Given the description of an element on the screen output the (x, y) to click on. 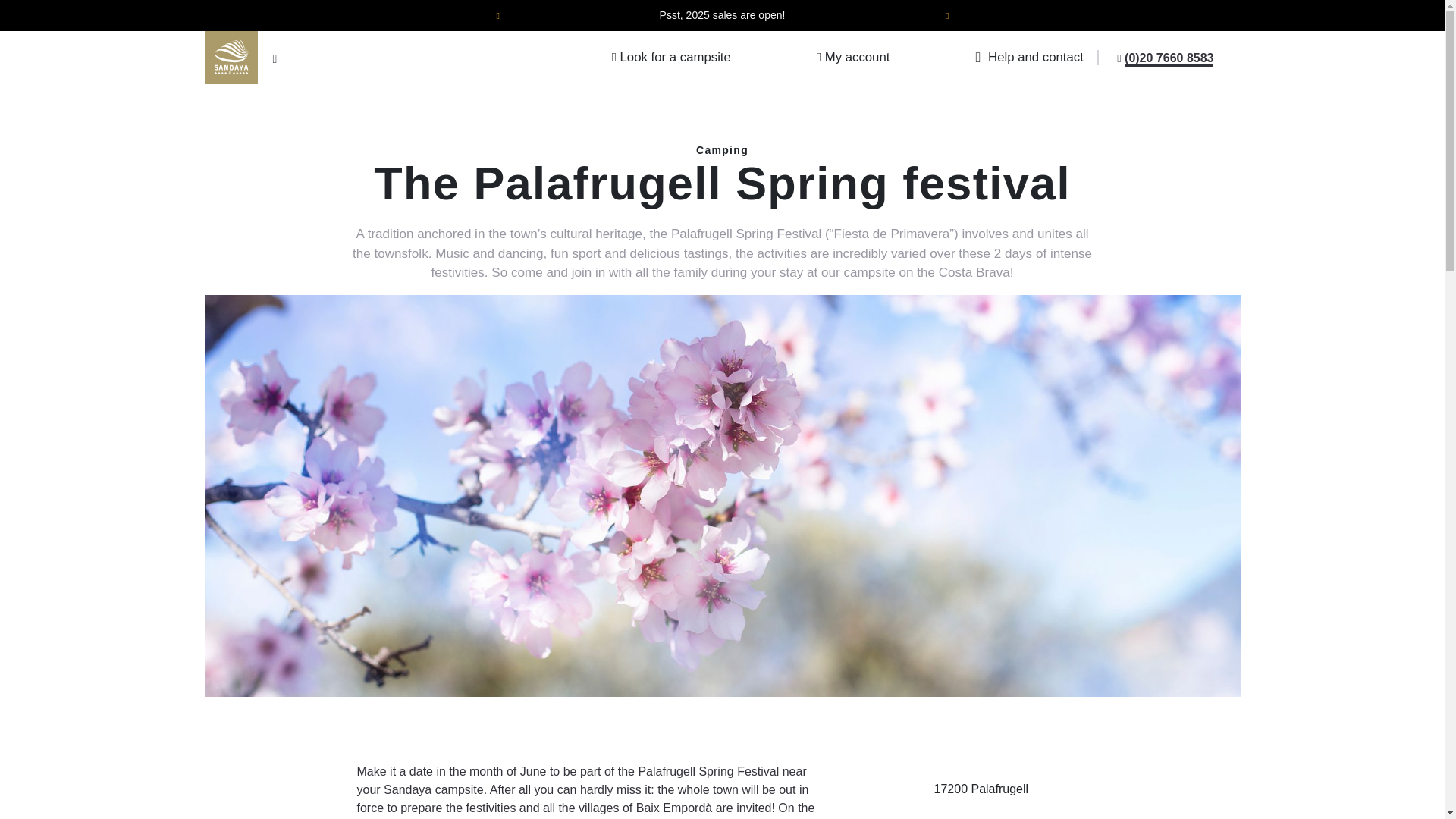
Help and contact (1029, 57)
Psst, 2025 sales are open! (721, 27)
My account (852, 57)
Look for a campsite (670, 57)
